Given the description of an element on the screen output the (x, y) to click on. 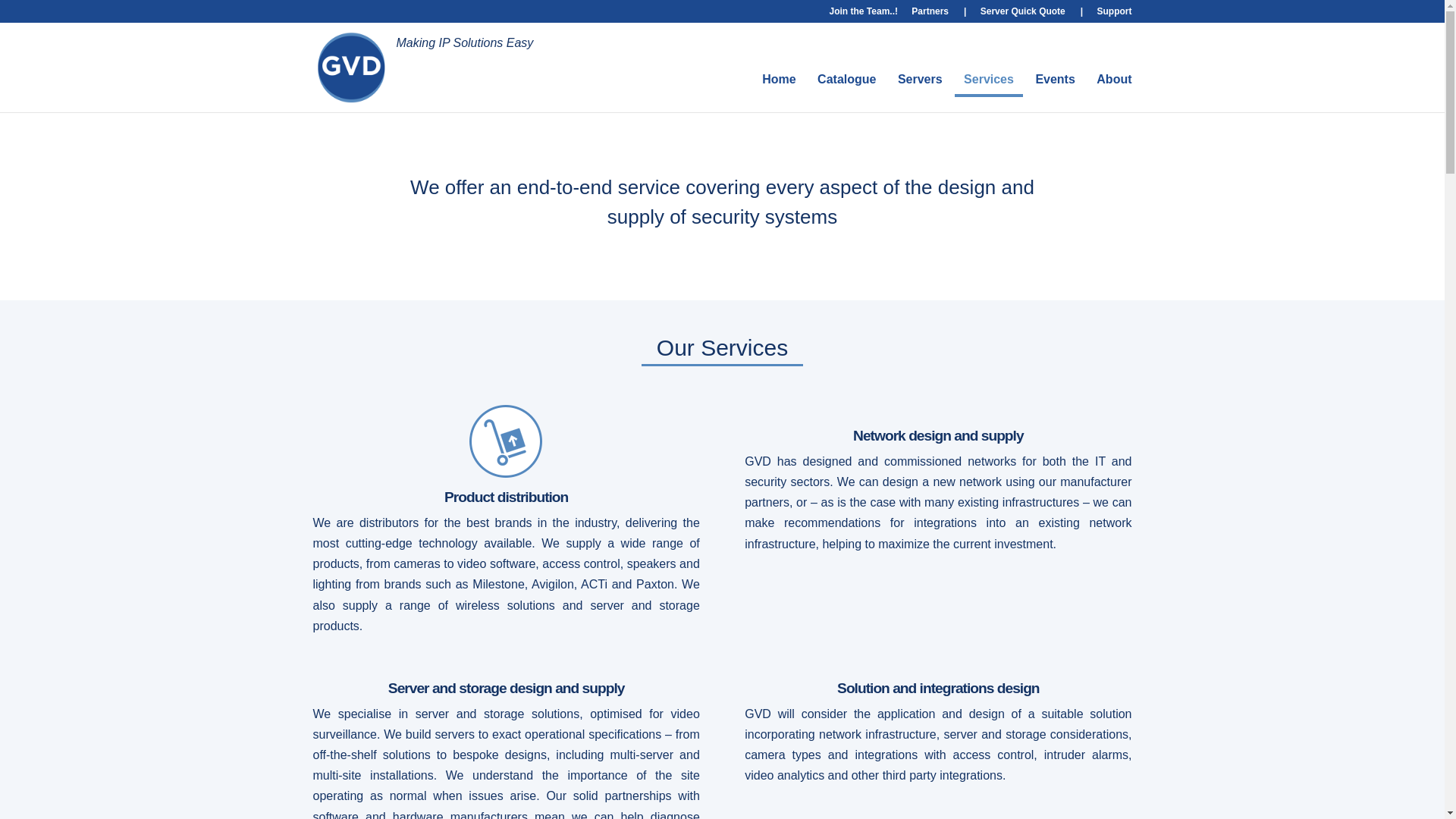
Support (1113, 14)
Services (988, 79)
Partners (938, 14)
Events (1054, 79)
Home (777, 79)
Servers (920, 79)
About (1113, 79)
Catalogue (846, 79)
Join the Team..! (863, 14)
Server Quick Quote (1031, 14)
